Given the description of an element on the screen output the (x, y) to click on. 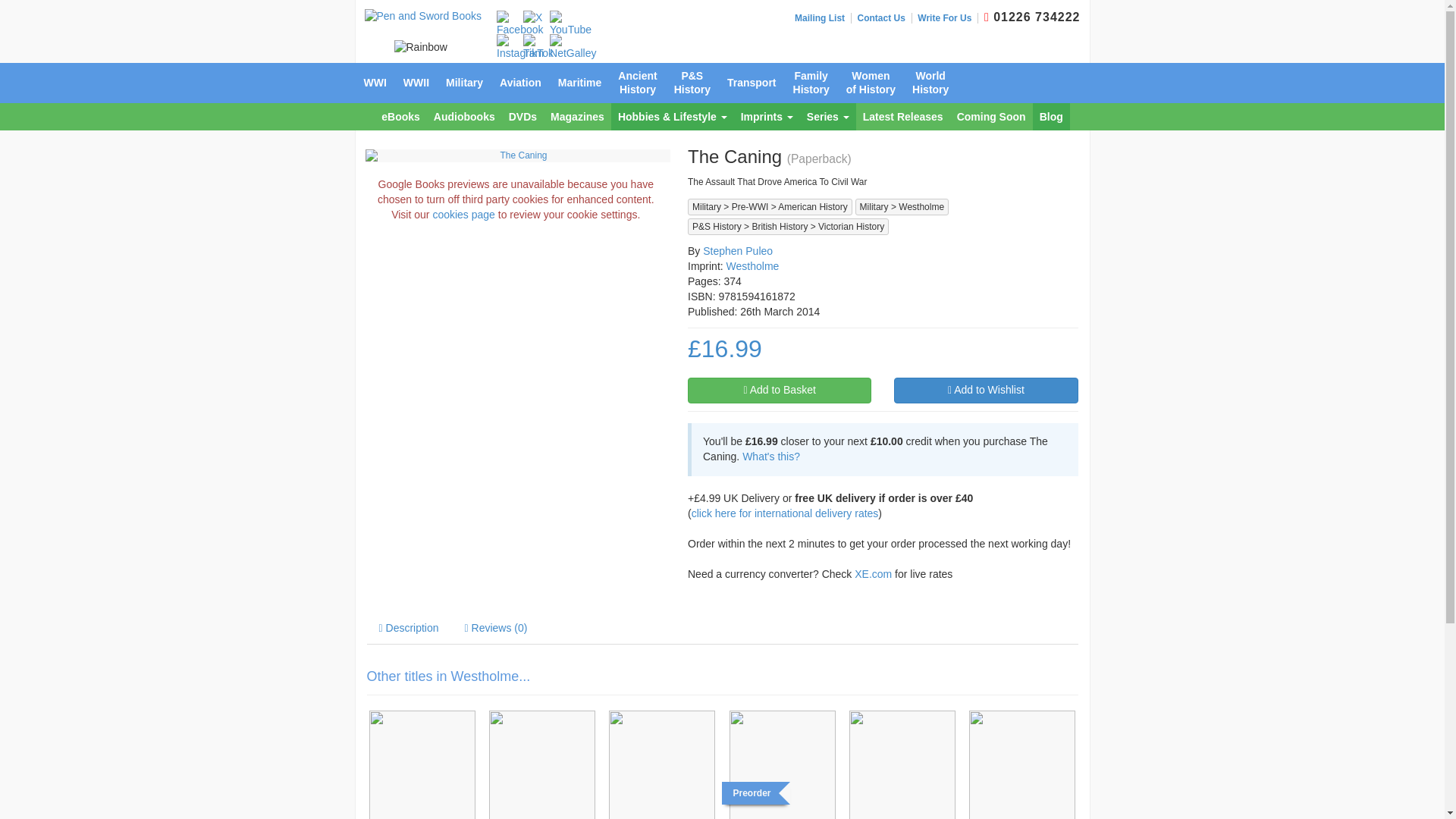
Write For Us (947, 18)
YouTube (570, 23)
TikTok (537, 47)
Facebook (519, 23)
Artillery Service in the War of Rebellion (421, 764)
Contact Us (884, 18)
The Small Place (541, 764)
Instagram (519, 47)
The Team That Changed Baseball (662, 764)
Mailing List (822, 18)
